Given the description of an element on the screen output the (x, y) to click on. 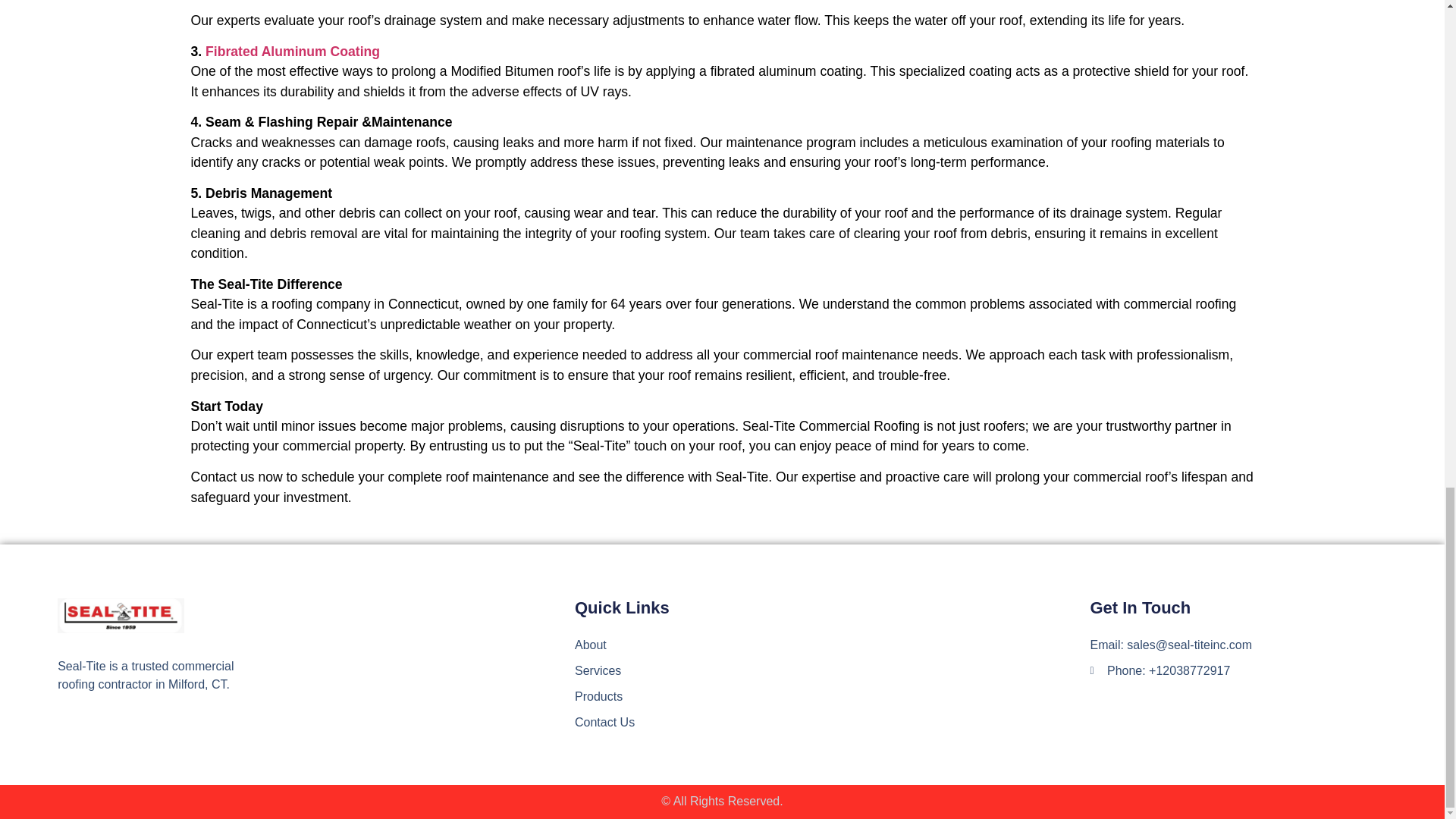
Fibrated Aluminum Coating (292, 51)
Services (832, 670)
About (832, 645)
